Given the description of an element on the screen output the (x, y) to click on. 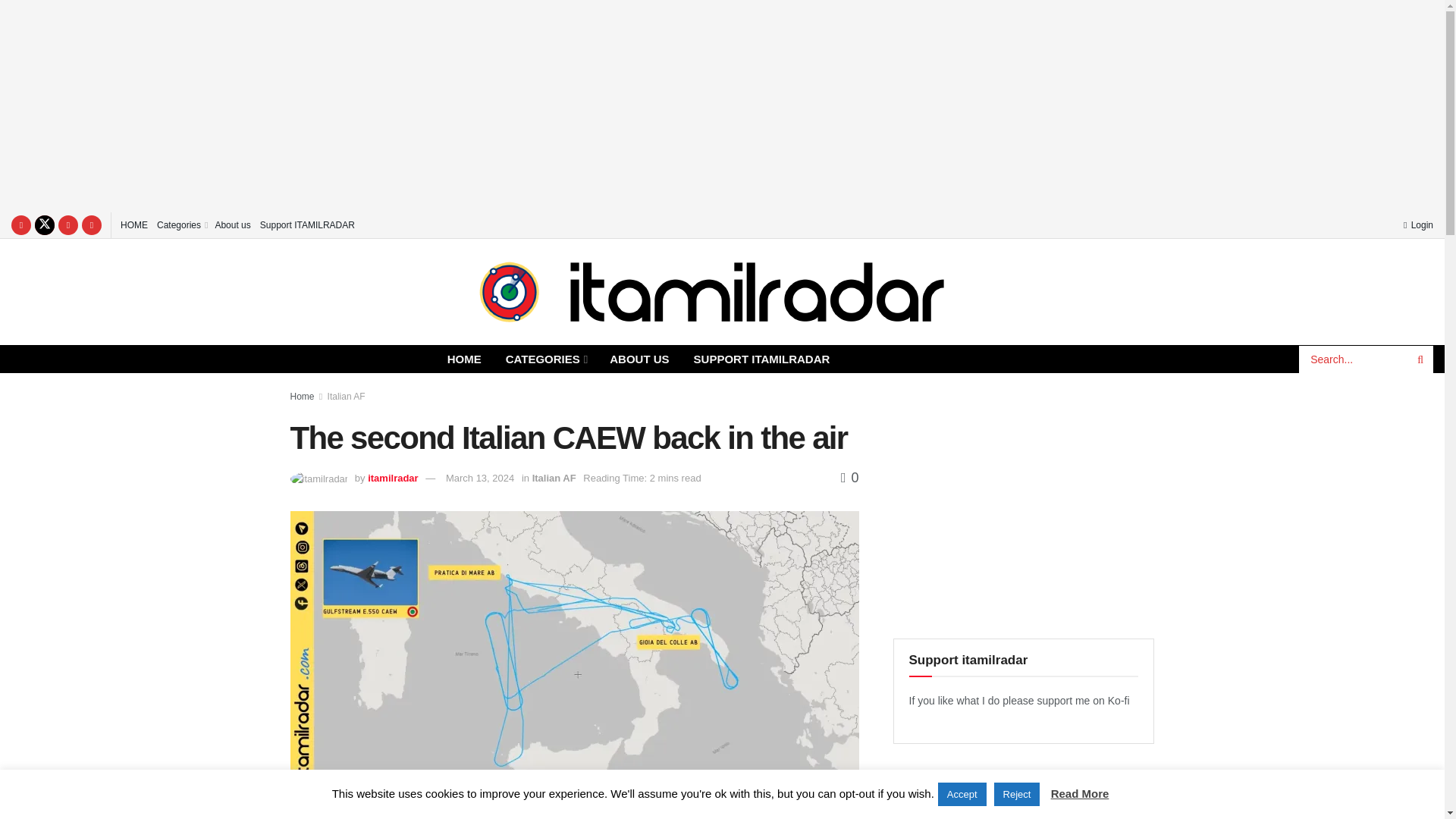
ABOUT US (638, 358)
CATEGORIES (545, 358)
HOME (134, 225)
Categories (181, 225)
Support ITAMILRADAR (307, 225)
Advertisement (1023, 501)
About us (232, 225)
Login (1417, 225)
SUPPORT ITAMILRADAR (762, 358)
HOME (464, 358)
